Given the description of an element on the screen output the (x, y) to click on. 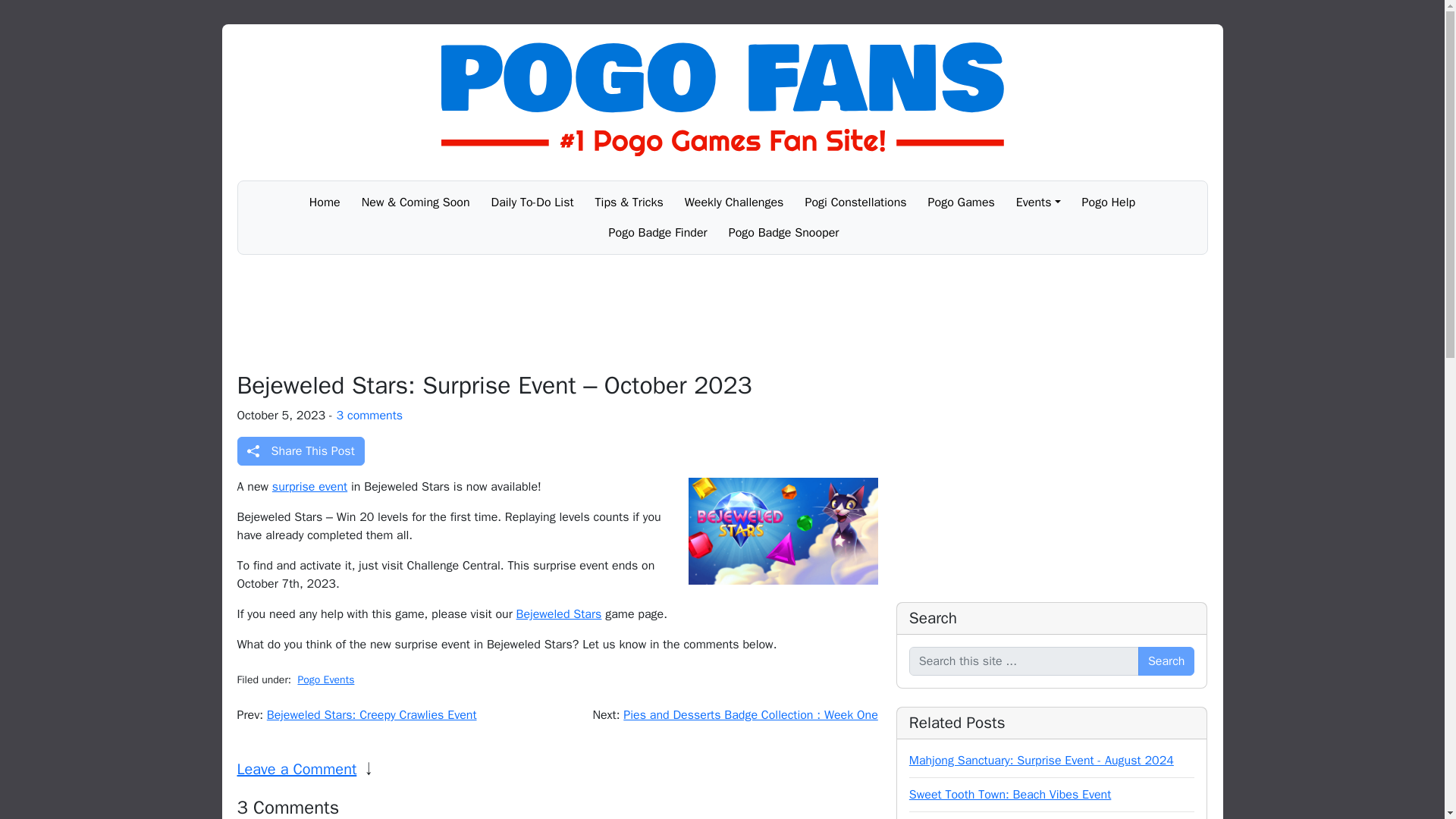
Share This Post (299, 451)
Pogo Events (325, 679)
Pogi Constellations (854, 202)
Bejeweled Stars (559, 613)
Pogo Badge Finder (657, 232)
Daily To-Do List (532, 202)
Pies and Desserts Badge Collection : Week One (750, 714)
Bejeweled Stars: Creepy Crawlies Event (371, 714)
Advertisement (721, 313)
Advertisement (1052, 477)
